Given the description of an element on the screen output the (x, y) to click on. 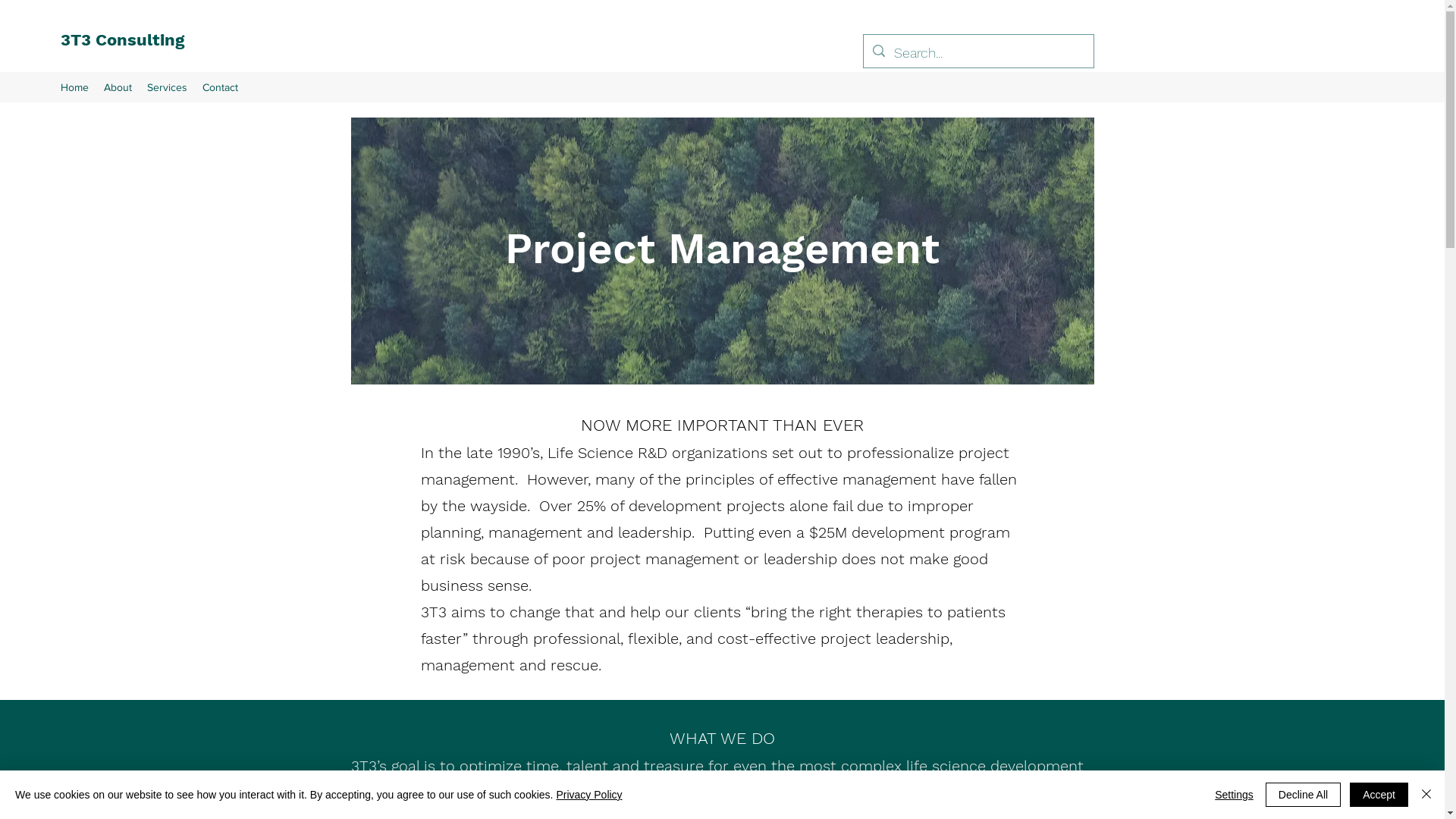
About Element type: text (117, 86)
Decline All Element type: text (1302, 794)
Services Element type: text (166, 86)
Contact Element type: text (219, 86)
Home Element type: text (74, 86)
Privacy Policy Element type: text (588, 794)
Accept Element type: text (1378, 794)
